Given the description of an element on the screen output the (x, y) to click on. 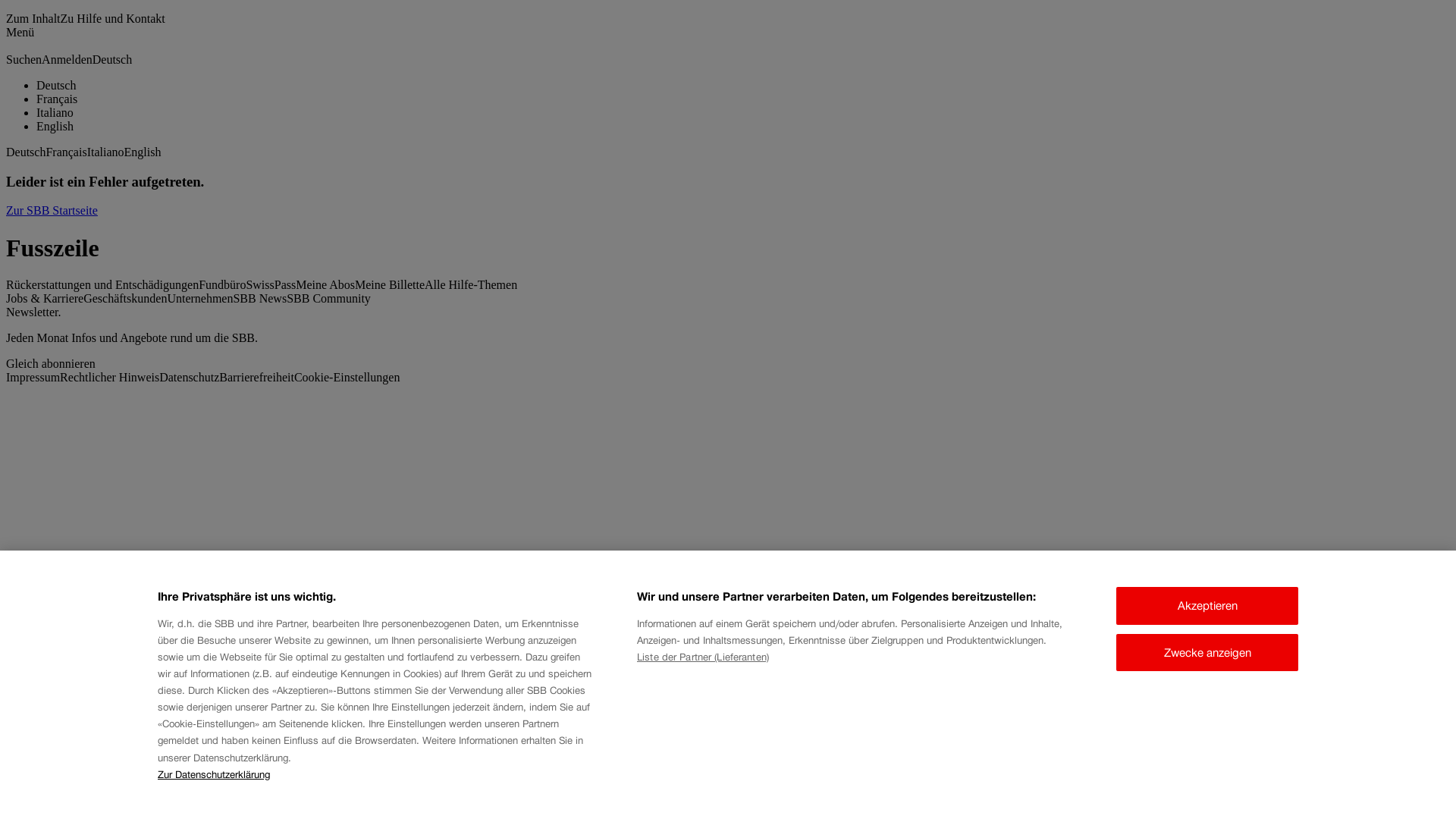
Zur SBB Startseite Element type: text (51, 209)
Zwecke anzeigen Element type: text (1207, 652)
Liste der Partner (Lieferanten) Element type: text (702, 656)
Akzeptieren Element type: text (1207, 605)
